Given the description of an element on the screen output the (x, y) to click on. 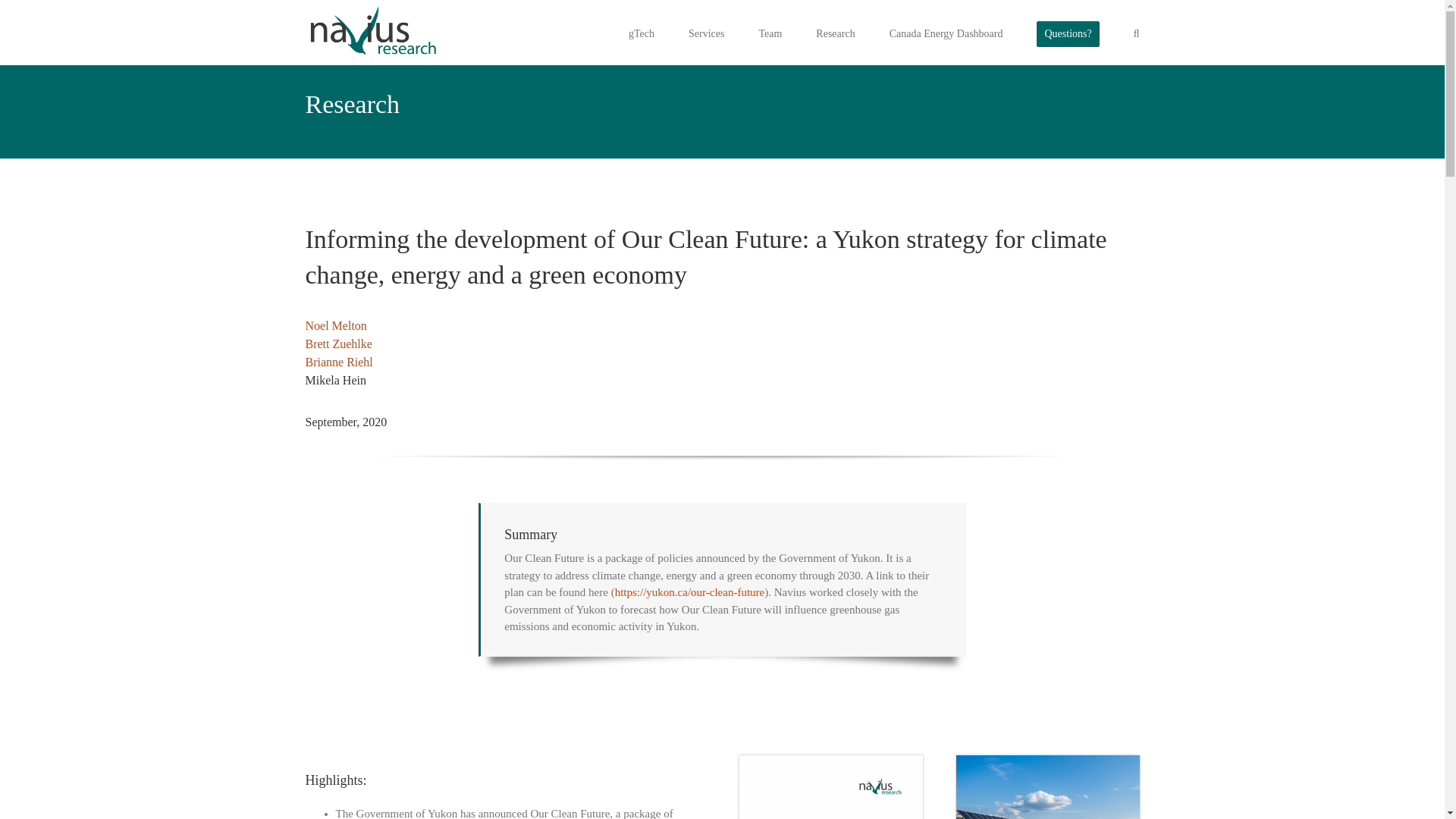
Brett Zuehlke (337, 343)
Noel Melton (335, 325)
Questions? (1067, 32)
Canada Energy Dashboard (946, 32)
Brianne Riehl (338, 361)
